Given the description of an element on the screen output the (x, y) to click on. 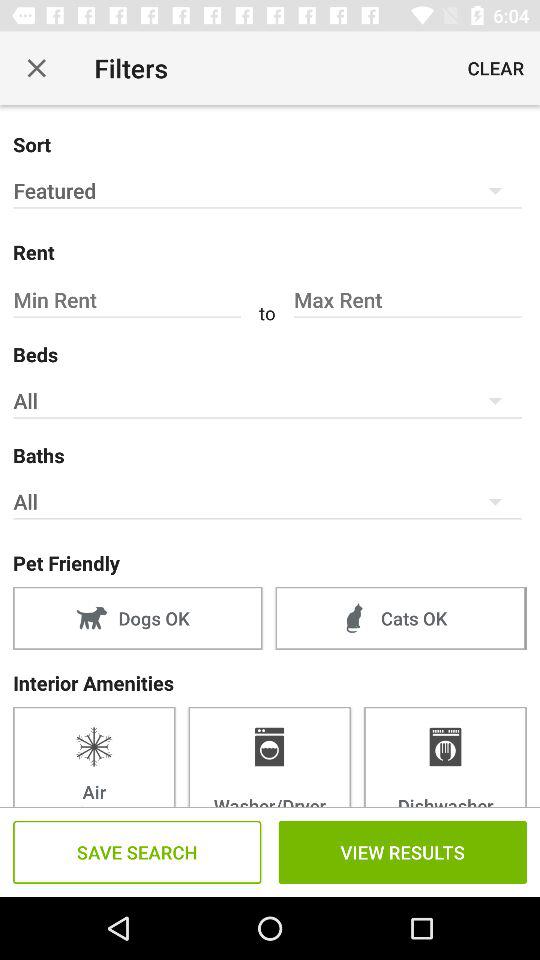
max rent (407, 300)
